Given the description of an element on the screen output the (x, y) to click on. 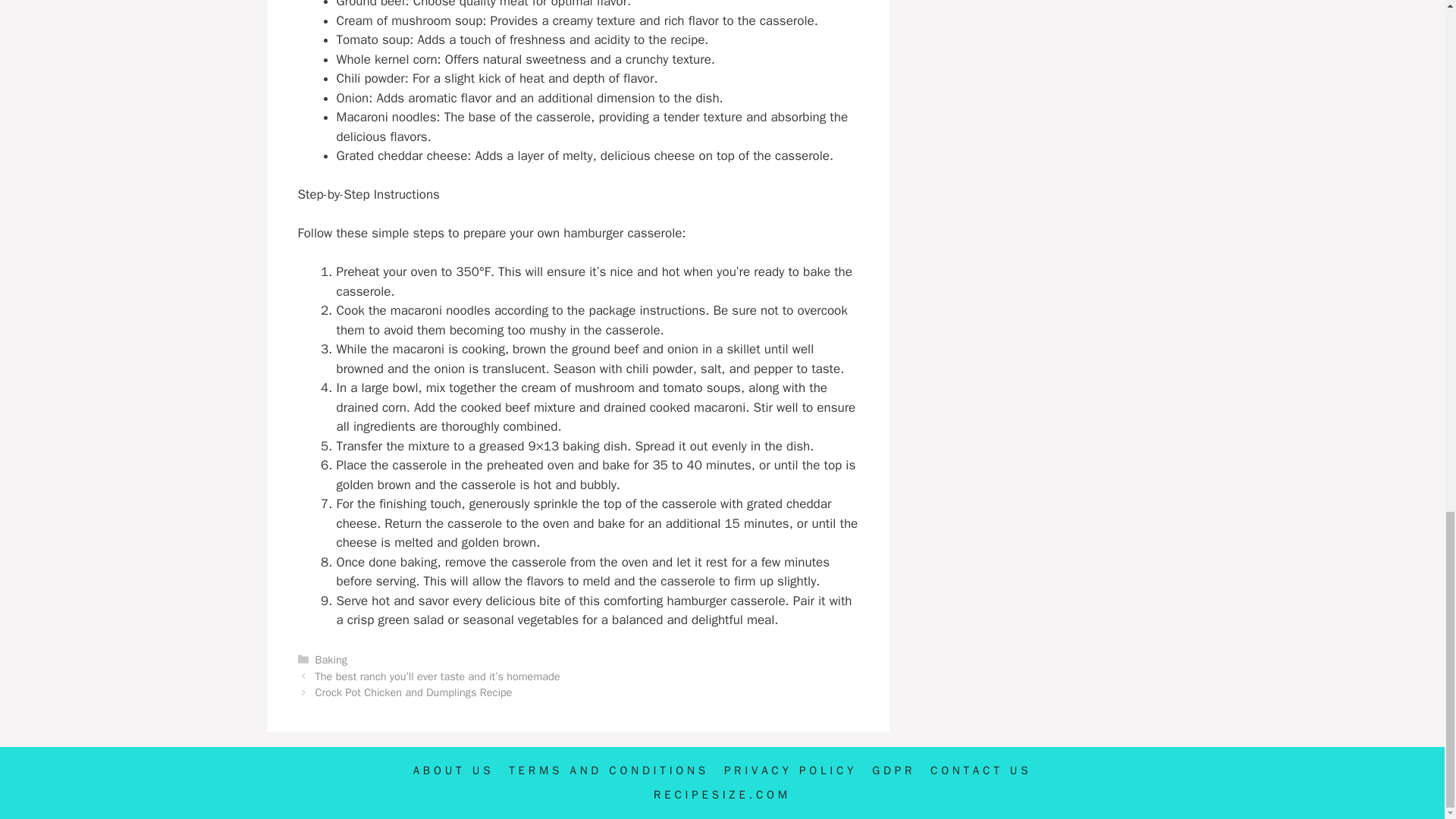
PRIVACY POLICY (790, 770)
ABOUT US (454, 770)
CONTACT US (980, 770)
Baking (331, 659)
GDPR (893, 770)
TERMS AND CONDITIONS (608, 770)
Crock Pot Chicken and Dumplings Recipe (413, 692)
Scroll back to top (1406, 152)
